Given the description of an element on the screen output the (x, y) to click on. 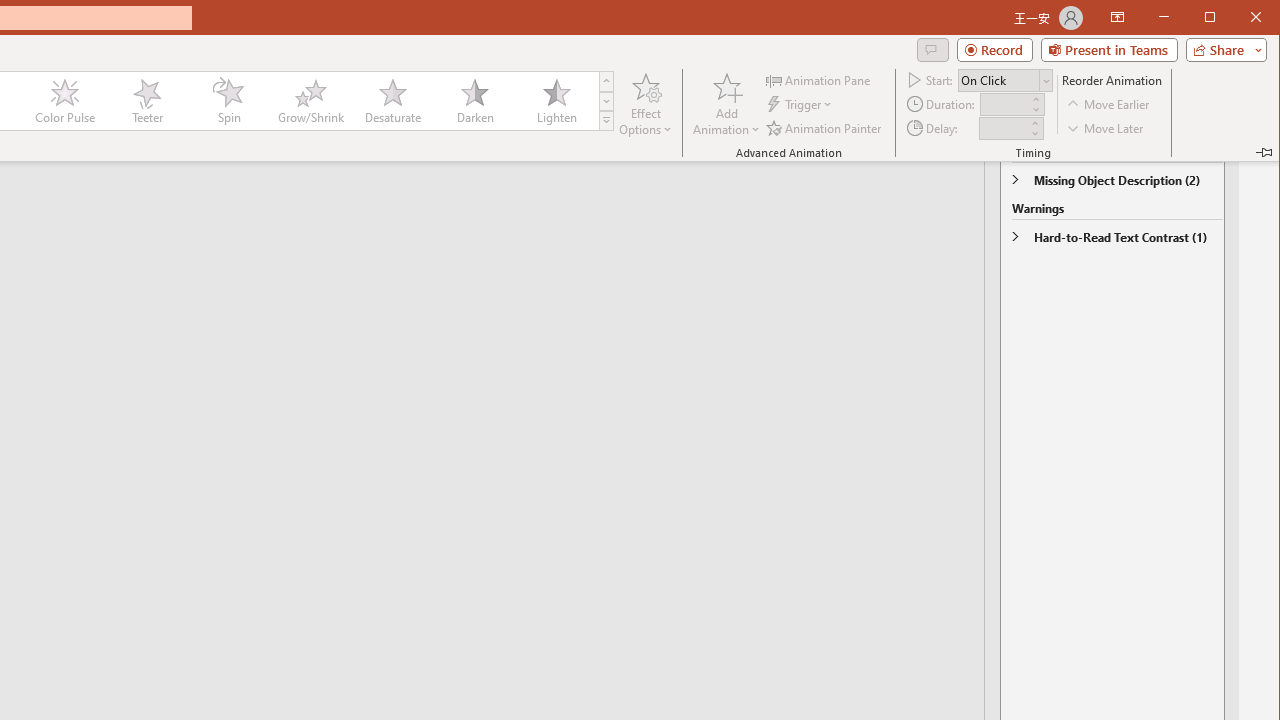
Close (1261, 18)
Present in Teams (1108, 49)
Maximize (1238, 18)
Comments (932, 49)
Ribbon Display Options (1117, 17)
Share (1222, 49)
Minimize (1216, 18)
